Given the description of an element on the screen output the (x, y) to click on. 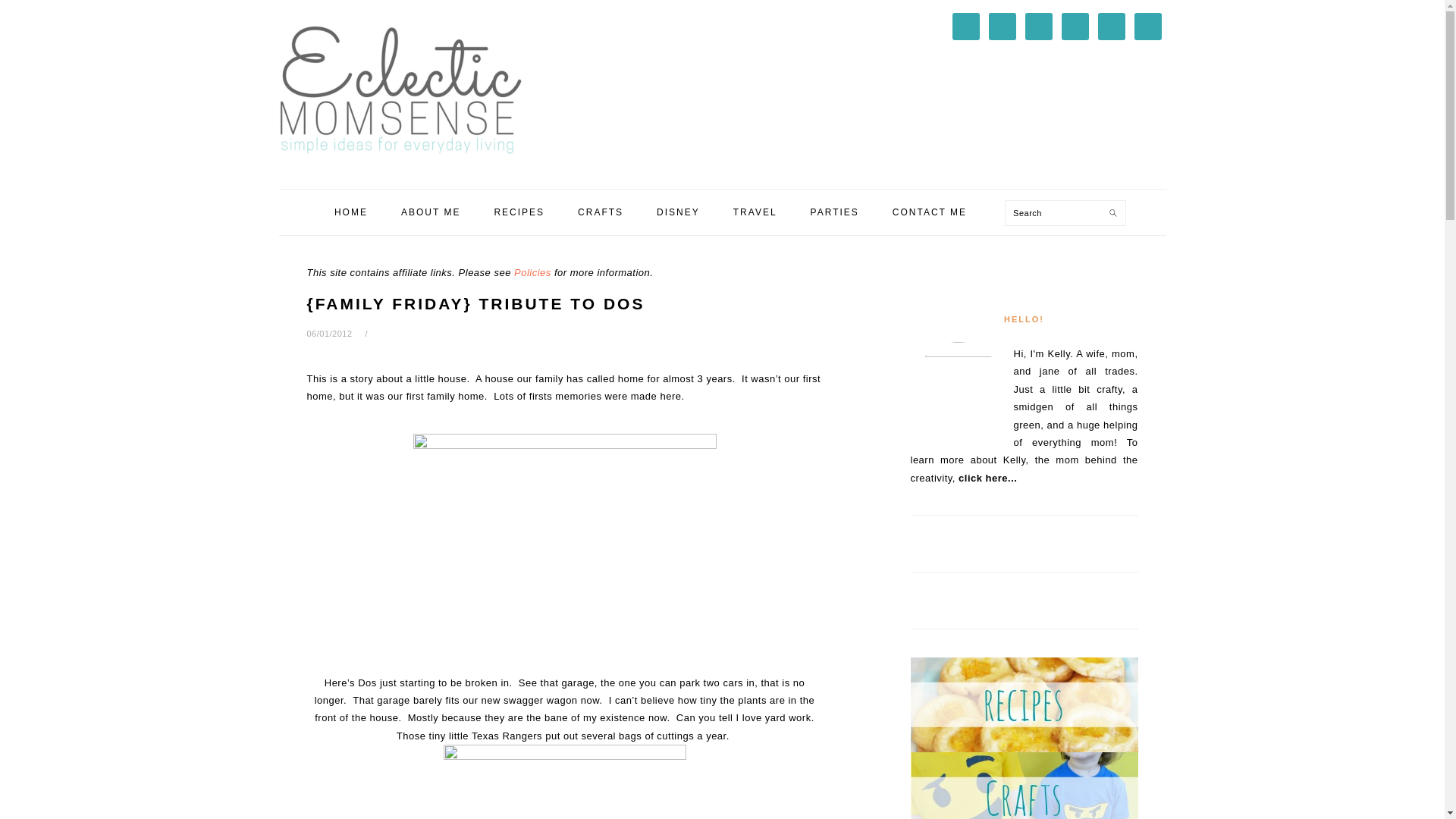
ECLECTIC MOMSENSE (400, 89)
TRAVEL (755, 212)
CONTACT ME (929, 212)
Policies (532, 272)
RECIPES (518, 212)
HOME (351, 212)
